Given the description of an element on the screen output the (x, y) to click on. 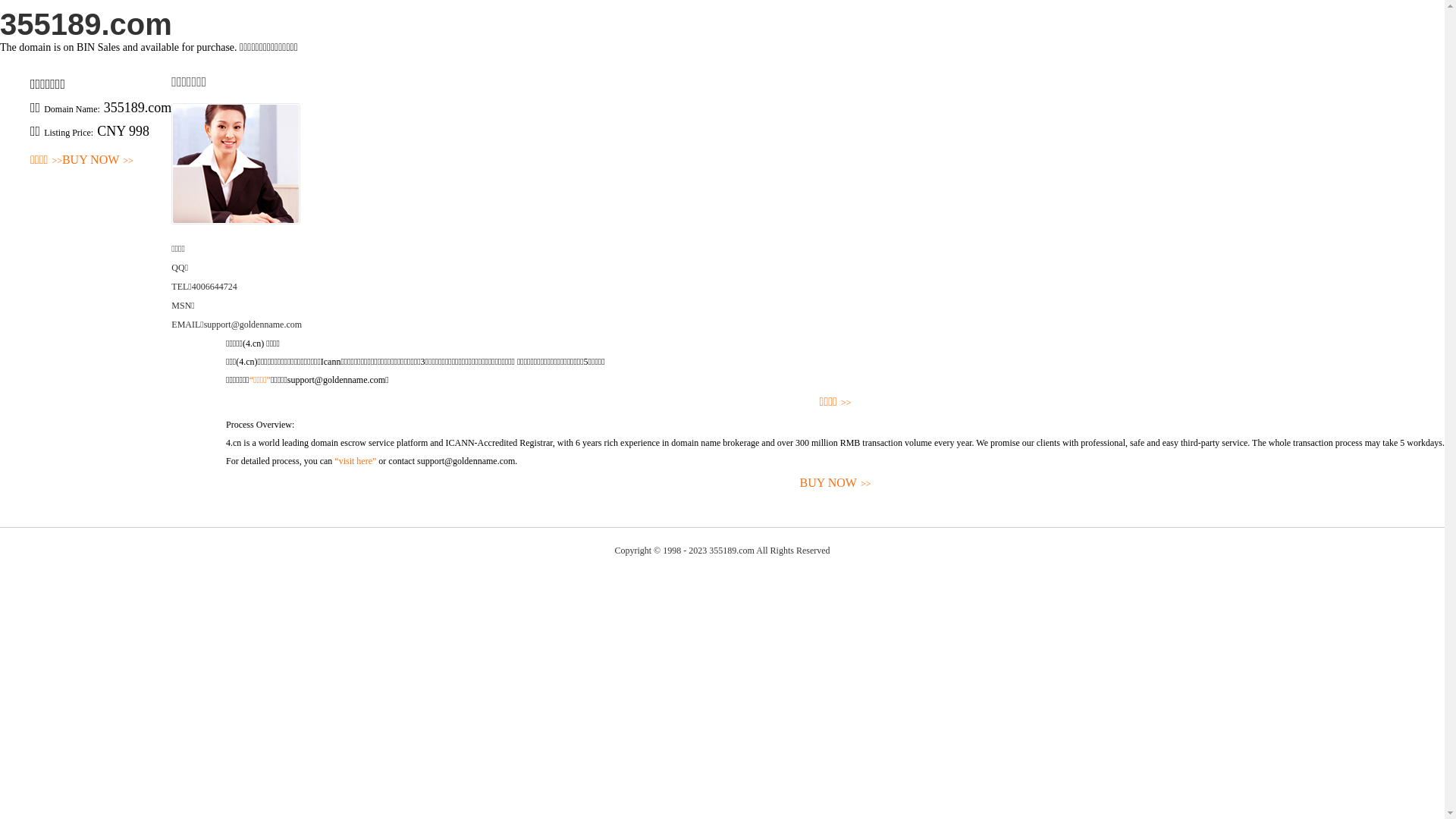
BUY NOW>> Element type: text (97, 160)
BUY NOW>> Element type: text (834, 483)
